Given the description of an element on the screen output the (x, y) to click on. 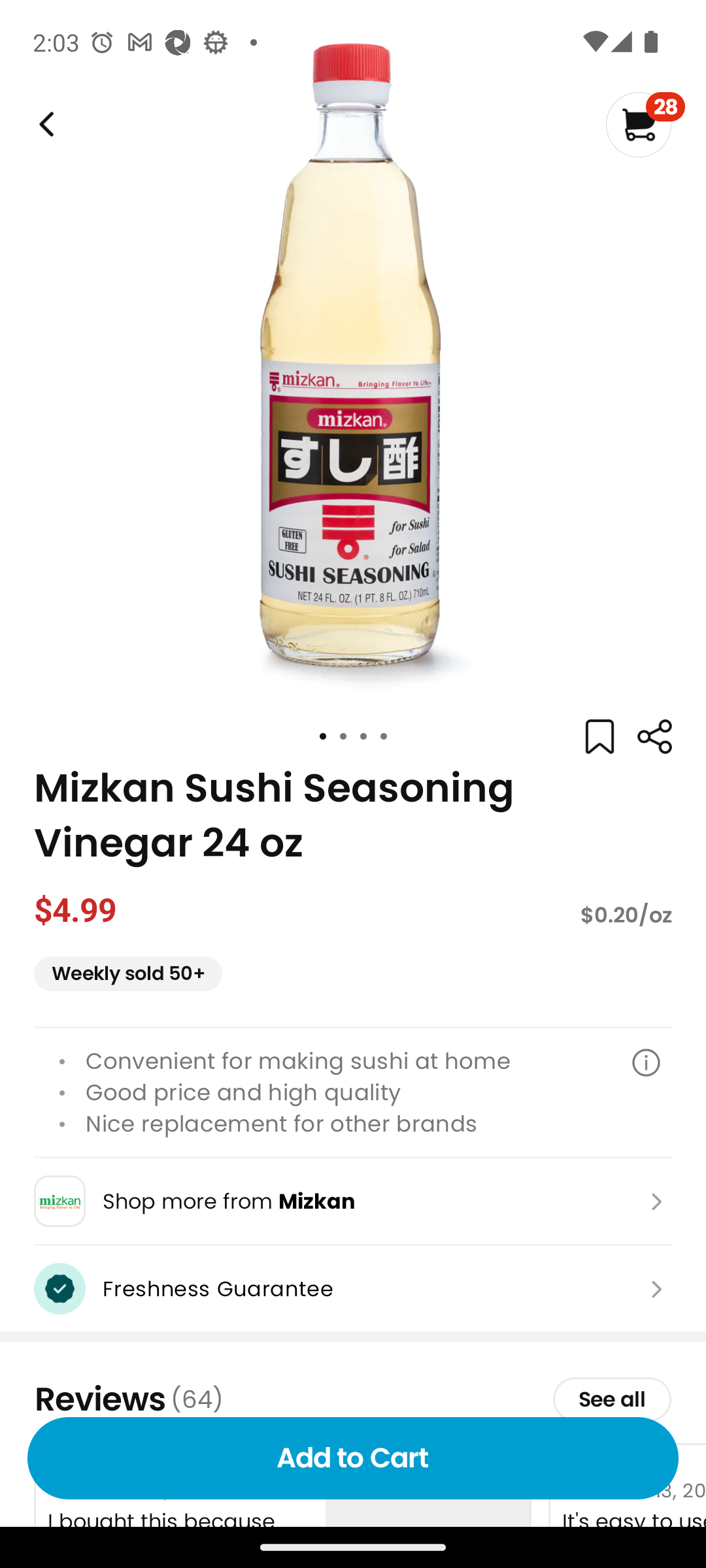
28 (644, 124)
Weee! (45, 124)
Weee! (653, 736)
Shop more from Mizkan Weee! (352, 1200)
Freshness Guarantee (352, 1288)
Reviews (64) See all (353, 1399)
Add to Cart (352, 1458)
